Given the description of an element on the screen output the (x, y) to click on. 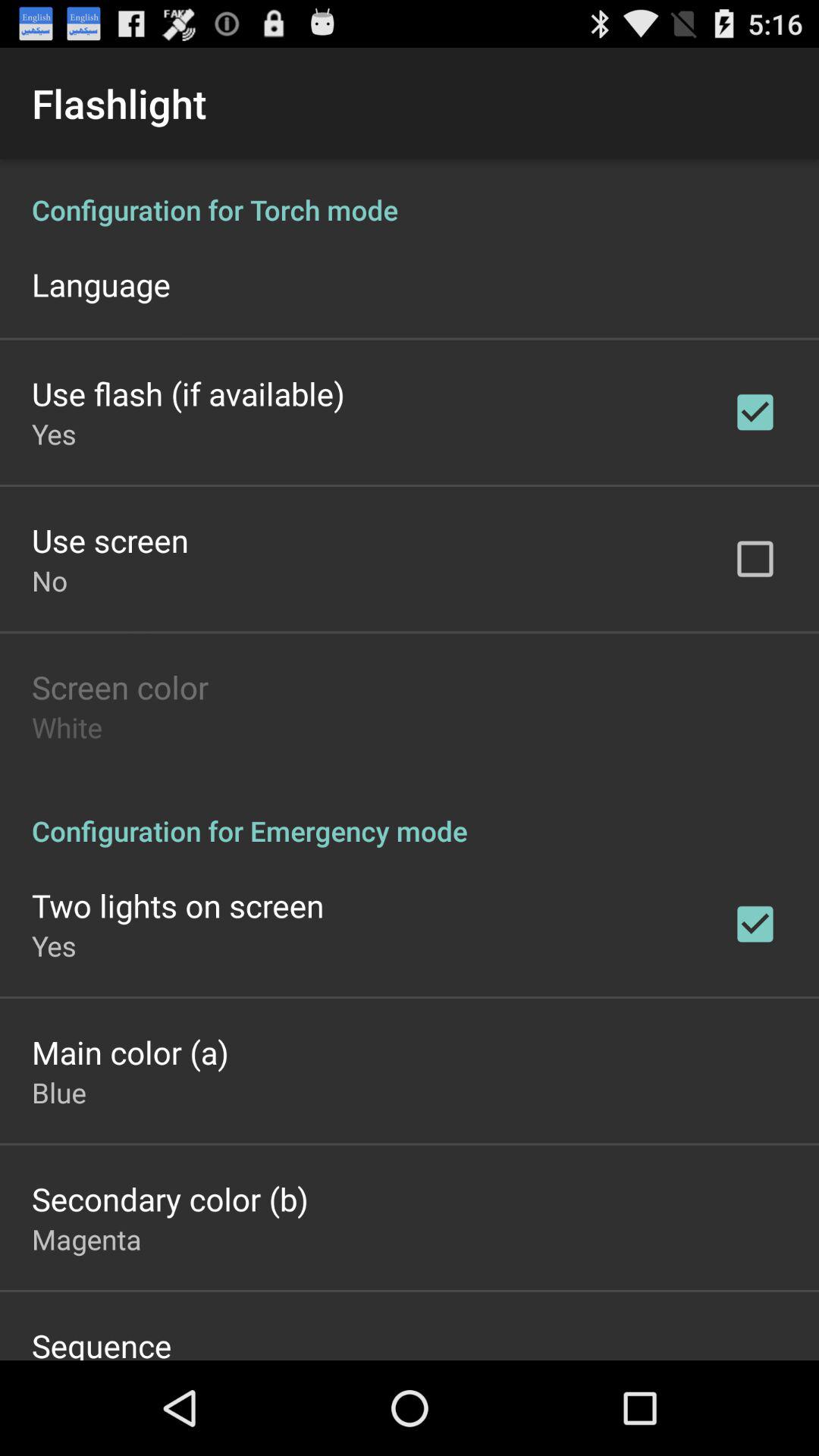
choose app below screen color item (66, 727)
